Given the description of an element on the screen output the (x, y) to click on. 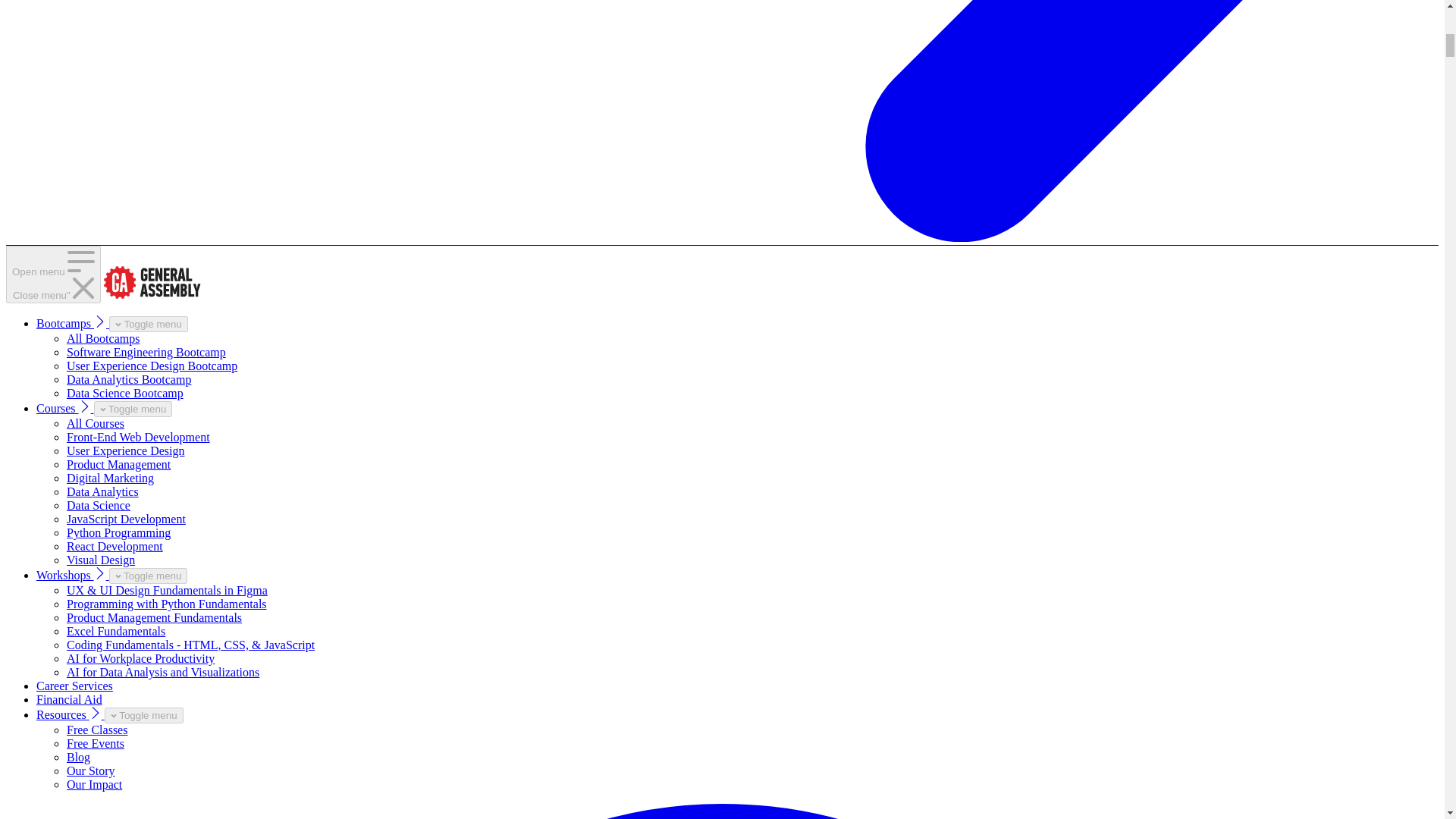
User Experience Design (125, 450)
Data Science (98, 504)
AI for Workplace Productivity (140, 658)
Front-End Web Development (137, 436)
All Courses (94, 422)
AI for Data Analysis and Visualizations (162, 671)
Data Science Bootcamp (124, 392)
Toggle menu (133, 408)
Visual Design (100, 559)
React Development (114, 545)
